Given the description of an element on the screen output the (x, y) to click on. 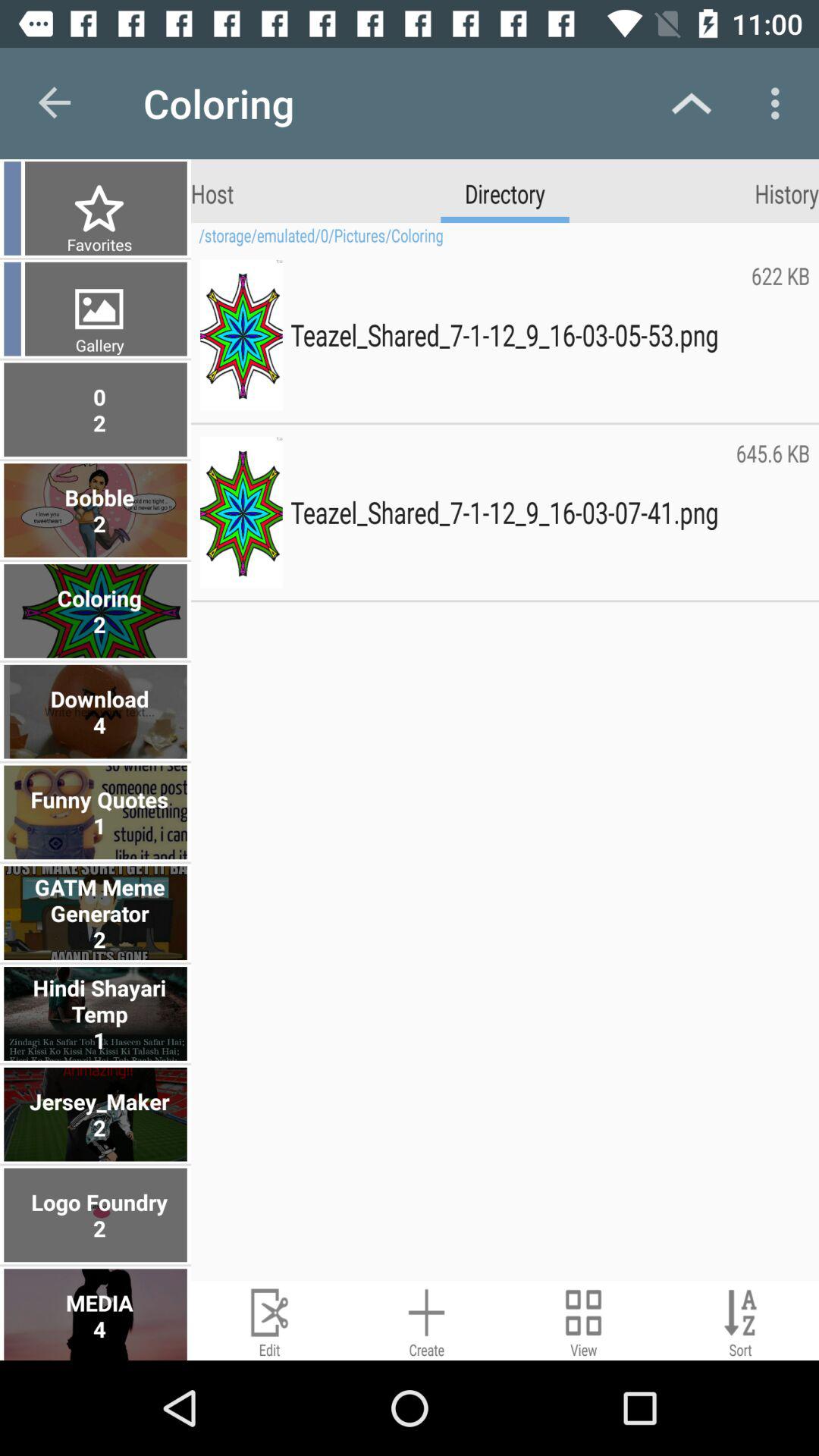
select icon next to the coloring (55, 103)
